Given the description of an element on the screen output the (x, y) to click on. 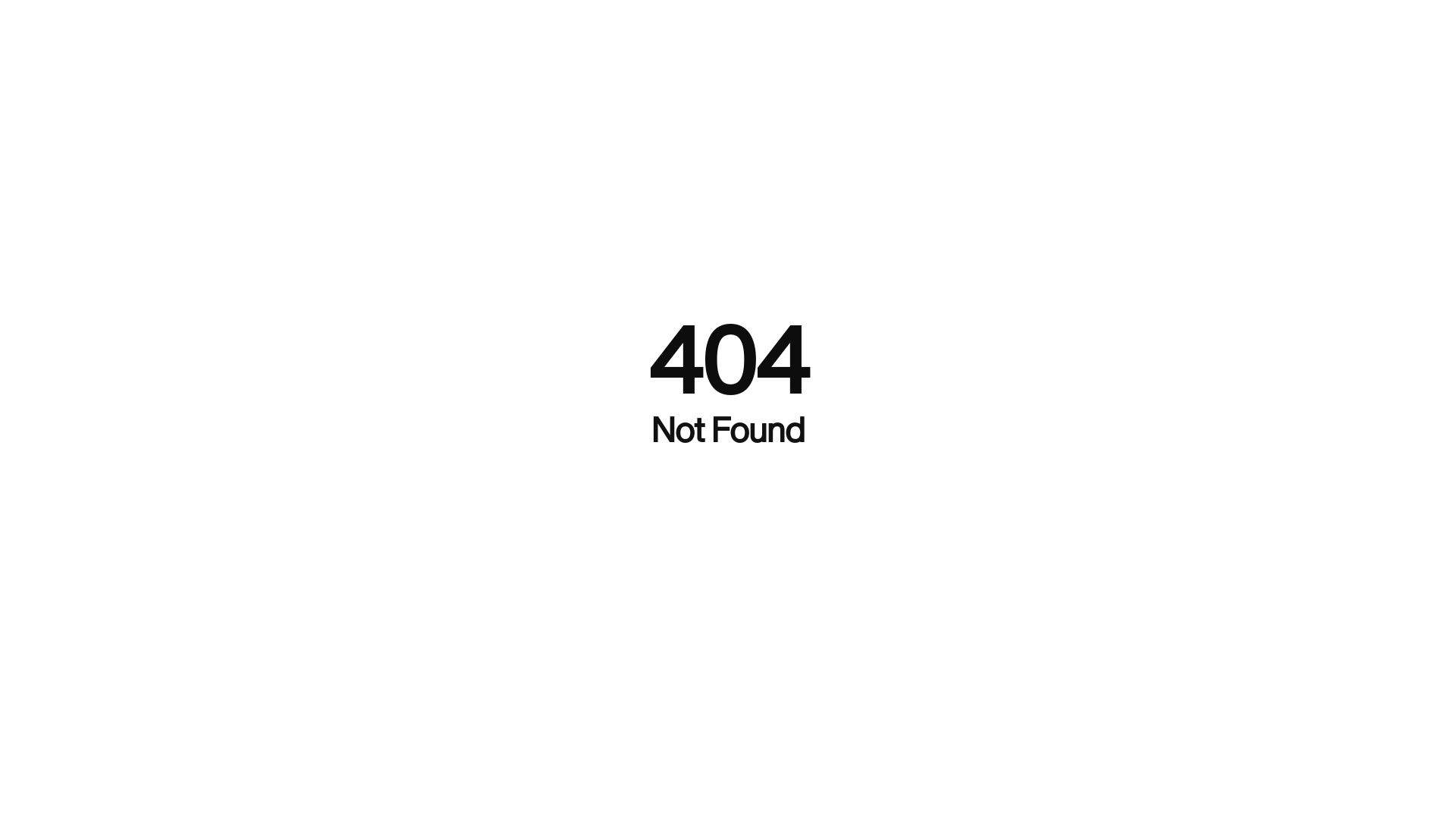
Back To Home Element type: text (727, 490)
